Given the description of an element on the screen output the (x, y) to click on. 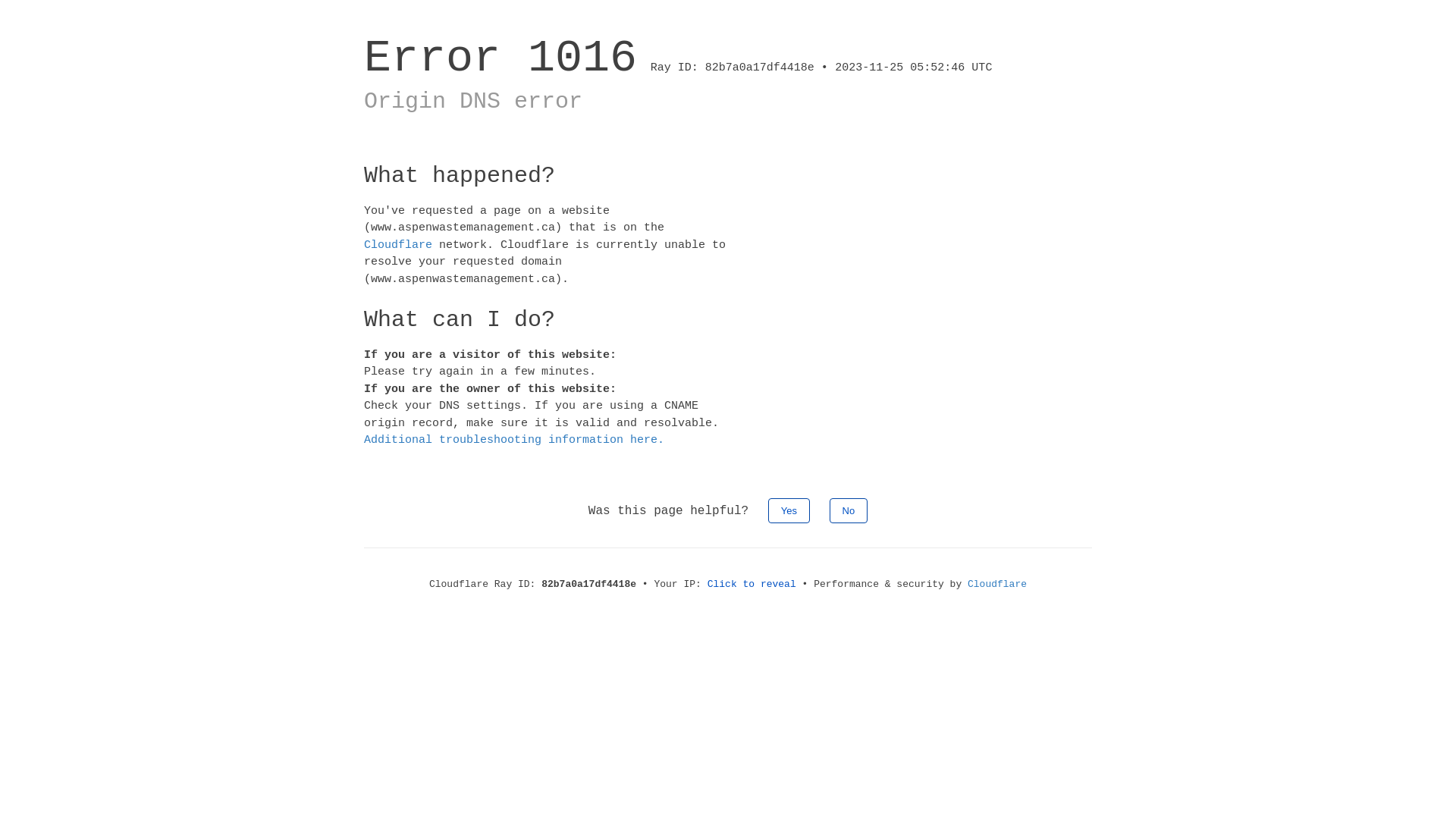
Cloudflare Element type: text (398, 244)
Yes Element type: text (788, 509)
Additional troubleshooting information here. Element type: text (514, 439)
Click to reveal Element type: text (751, 583)
Cloudflare Element type: text (996, 583)
No Element type: text (848, 509)
